Given the description of an element on the screen output the (x, y) to click on. 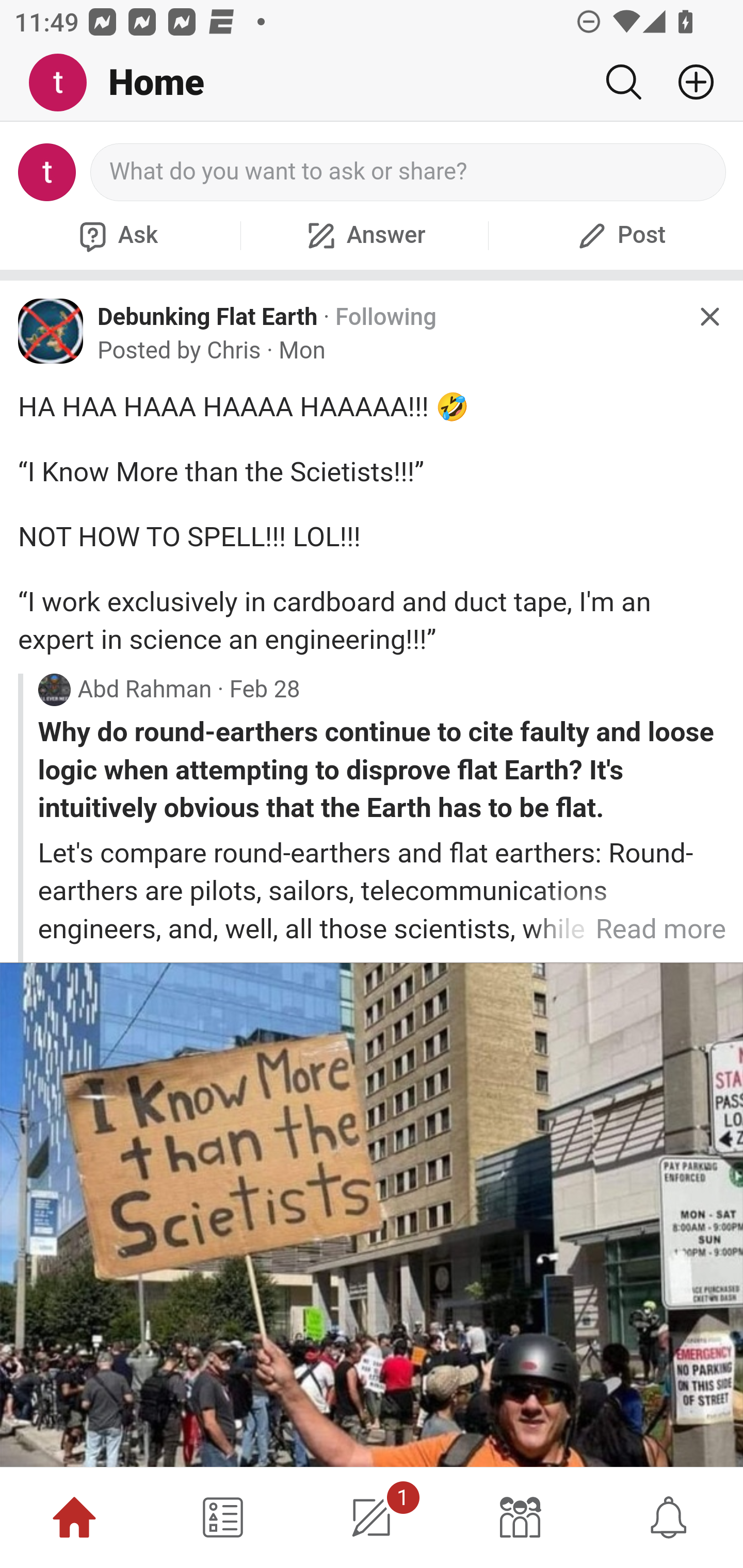
Me (64, 83)
Search (623, 82)
Add (688, 82)
What do you want to ask or share? (408, 172)
Ask (116, 234)
Answer (364, 234)
Post (618, 234)
Hide (709, 316)
Icon for Debunking Flat Earth (50, 330)
Debunking Flat Earth (208, 315)
Following (384, 316)
Profile photo for Abd Rahman (54, 689)
1 (371, 1517)
